Given the description of an element on the screen output the (x, y) to click on. 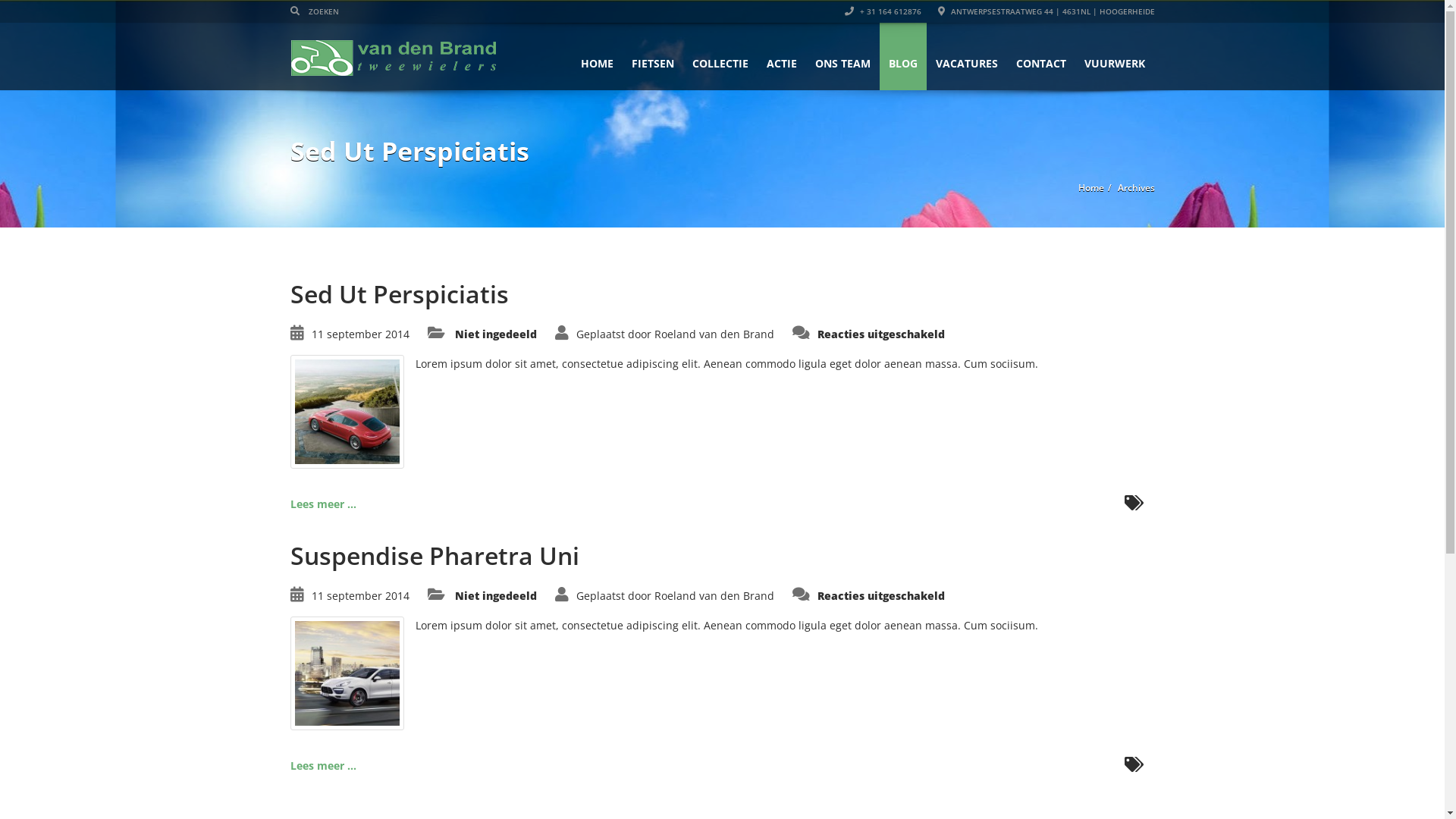
Lees meer ... Element type: text (322, 503)
HOME Element type: text (596, 56)
VUURWERK Element type: text (1114, 56)
Home Element type: text (1091, 187)
Roeland van den Brand Element type: text (713, 333)
11 september 2014 Element type: text (359, 333)
+ 31 164 612876 Element type: text (882, 11)
Roeland van den Brand Element type: text (713, 595)
Suspendise Pharetra Uni Element type: hover (346, 672)
CONTACT Element type: text (1041, 56)
COLLECTIE Element type: text (719, 56)
ANTWERPSESTRAATWEG 44 | 4631NL | HOOGERHEIDE Element type: text (1045, 11)
Suspendise Pharetra Uni Element type: text (433, 555)
FIETSEN Element type: text (651, 56)
11 september 2014 Element type: text (359, 595)
VACATURES Element type: text (966, 56)
Sed Ut Perspiciatis Element type: hover (346, 410)
ACTIE Element type: text (780, 56)
BLOG Element type: text (902, 56)
Lees meer ... Element type: text (322, 765)
ONS TEAM Element type: text (841, 56)
Archives Element type: text (1135, 187)
Sed Ut Perspiciatis Element type: text (398, 293)
